Given the description of an element on the screen output the (x, y) to click on. 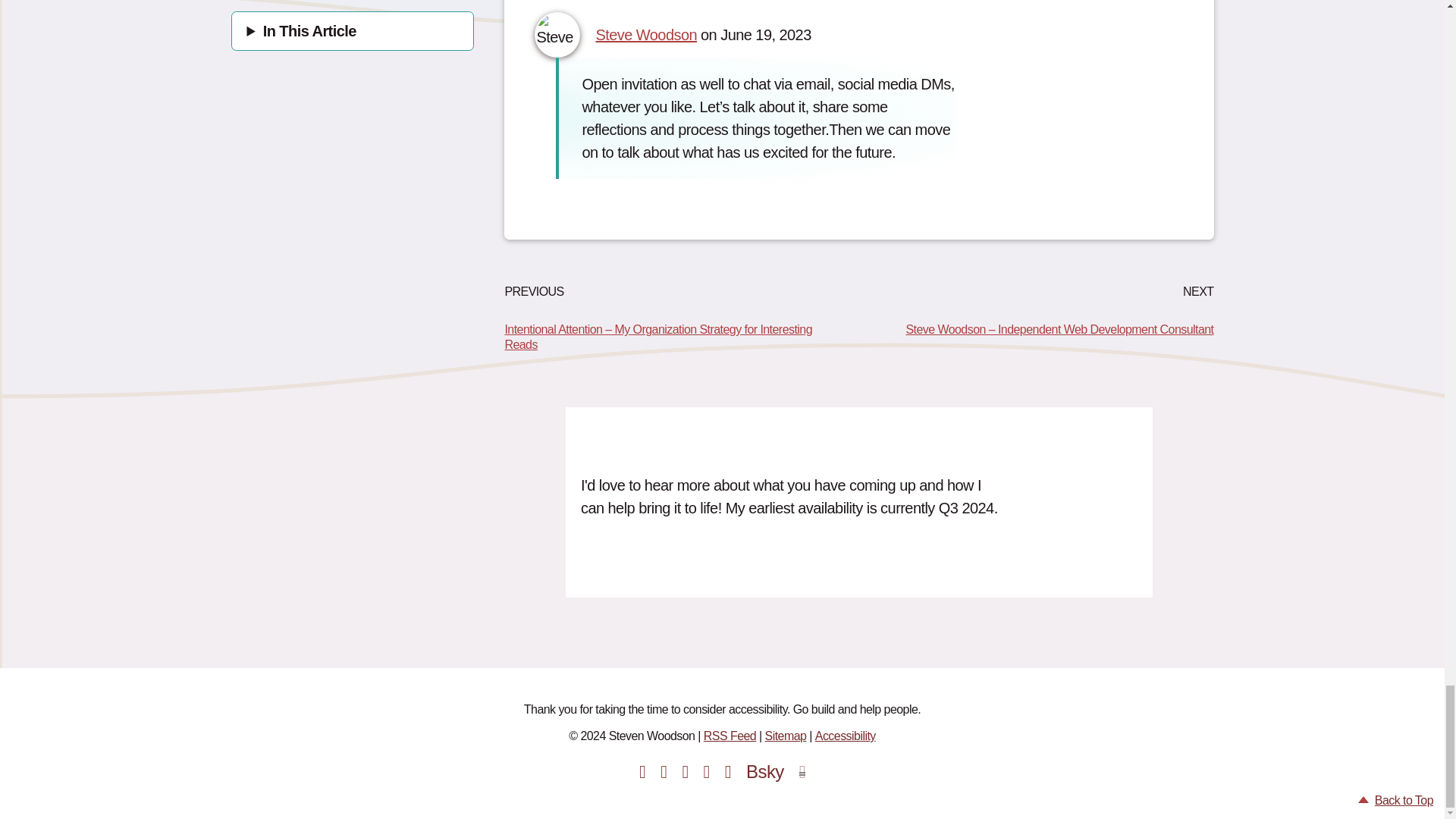
Get in Touch (638, 564)
Steve Woodson (646, 34)
RSS Feed (729, 735)
